Given the description of an element on the screen output the (x, y) to click on. 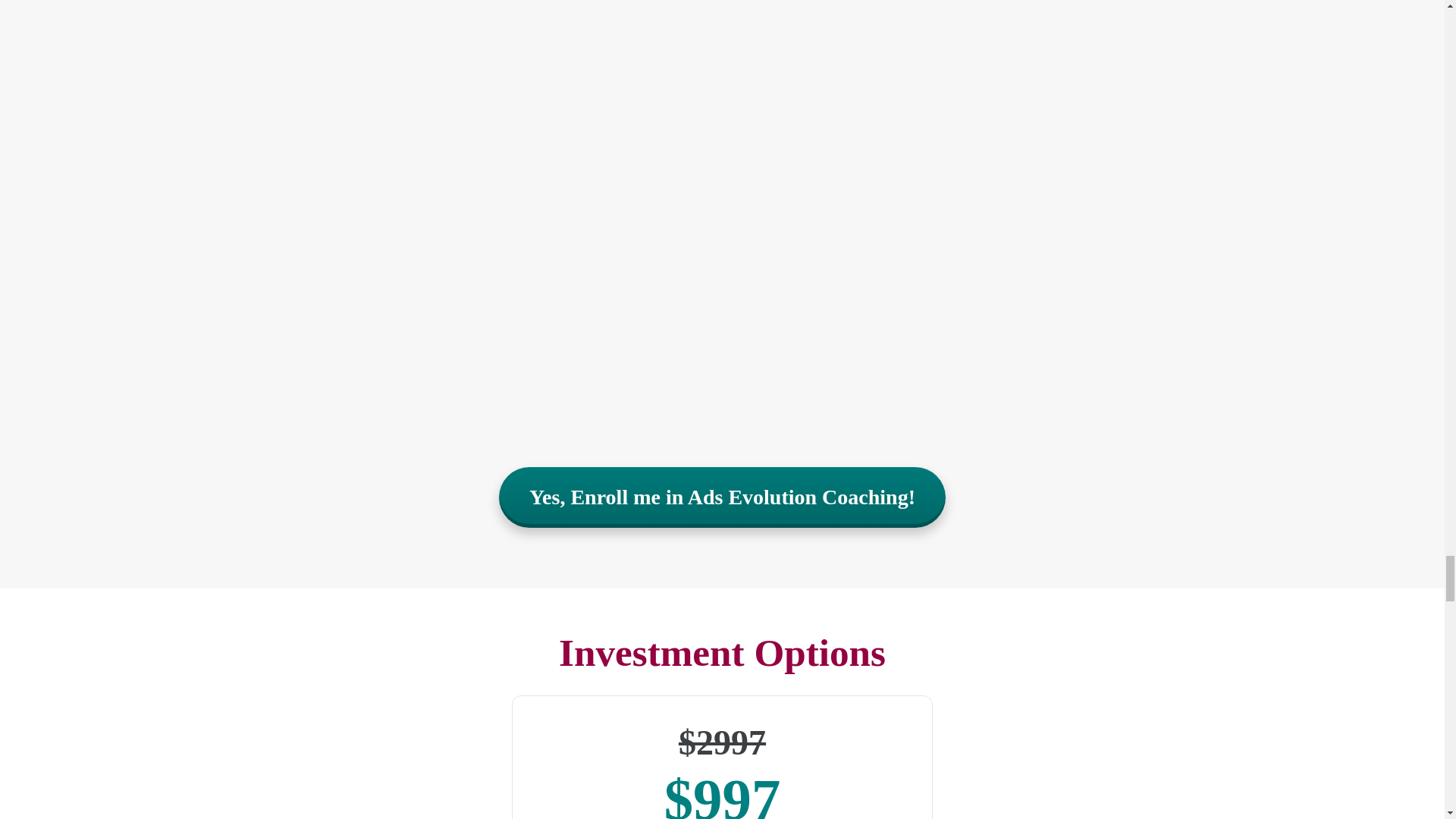
Yes, Enroll me in Ads Evolution Coaching! (721, 496)
